Given the description of an element on the screen output the (x, y) to click on. 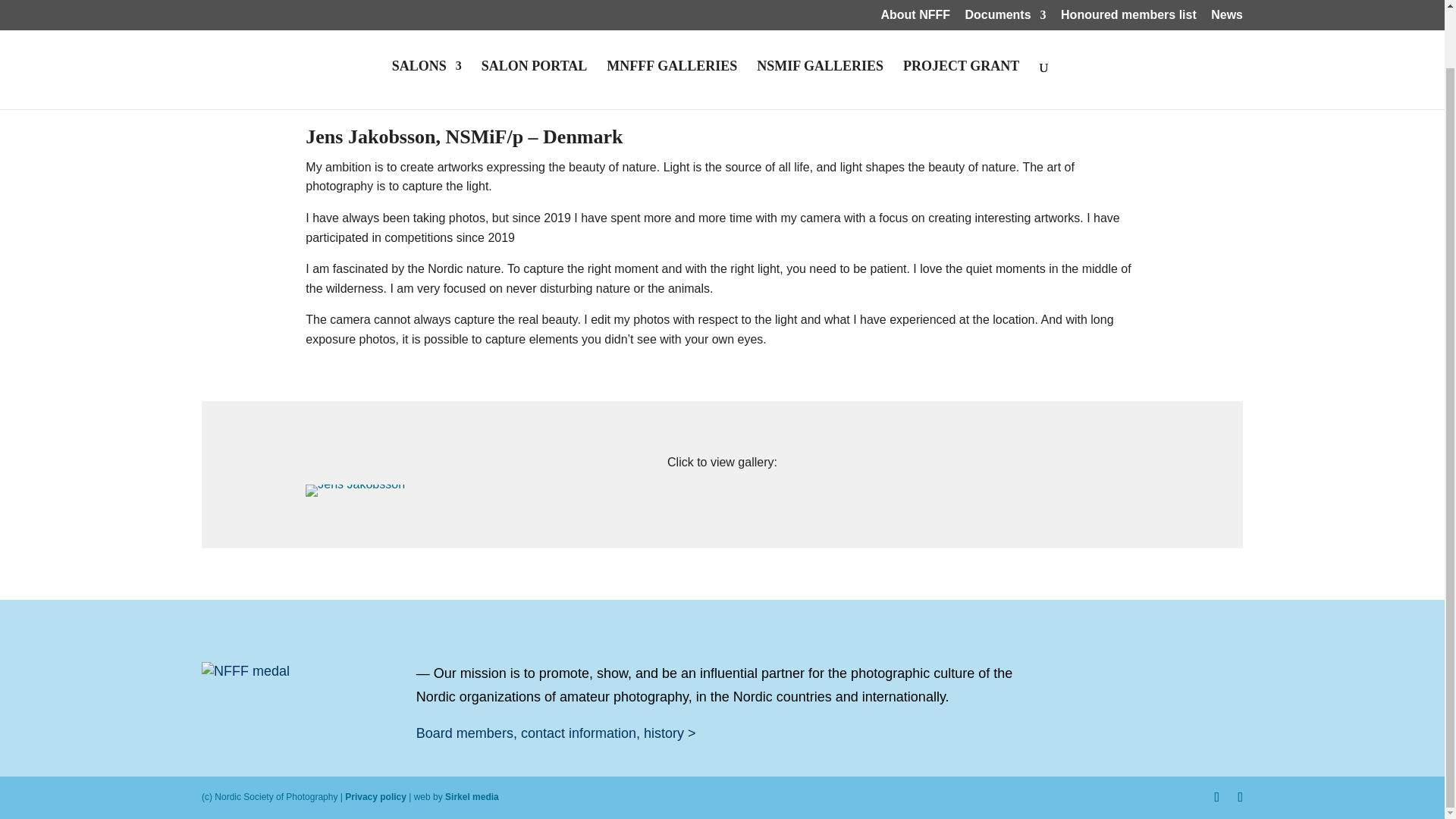
Privacy policy (375, 796)
NSMIF GALLERIES (820, 22)
SALON PORTAL (534, 22)
PROJECT GRANT (960, 22)
SALONS (426, 22)
1 The cave at Drangarnir (354, 483)
MNFFF GALLERIES (671, 22)
